Given the description of an element on the screen output the (x, y) to click on. 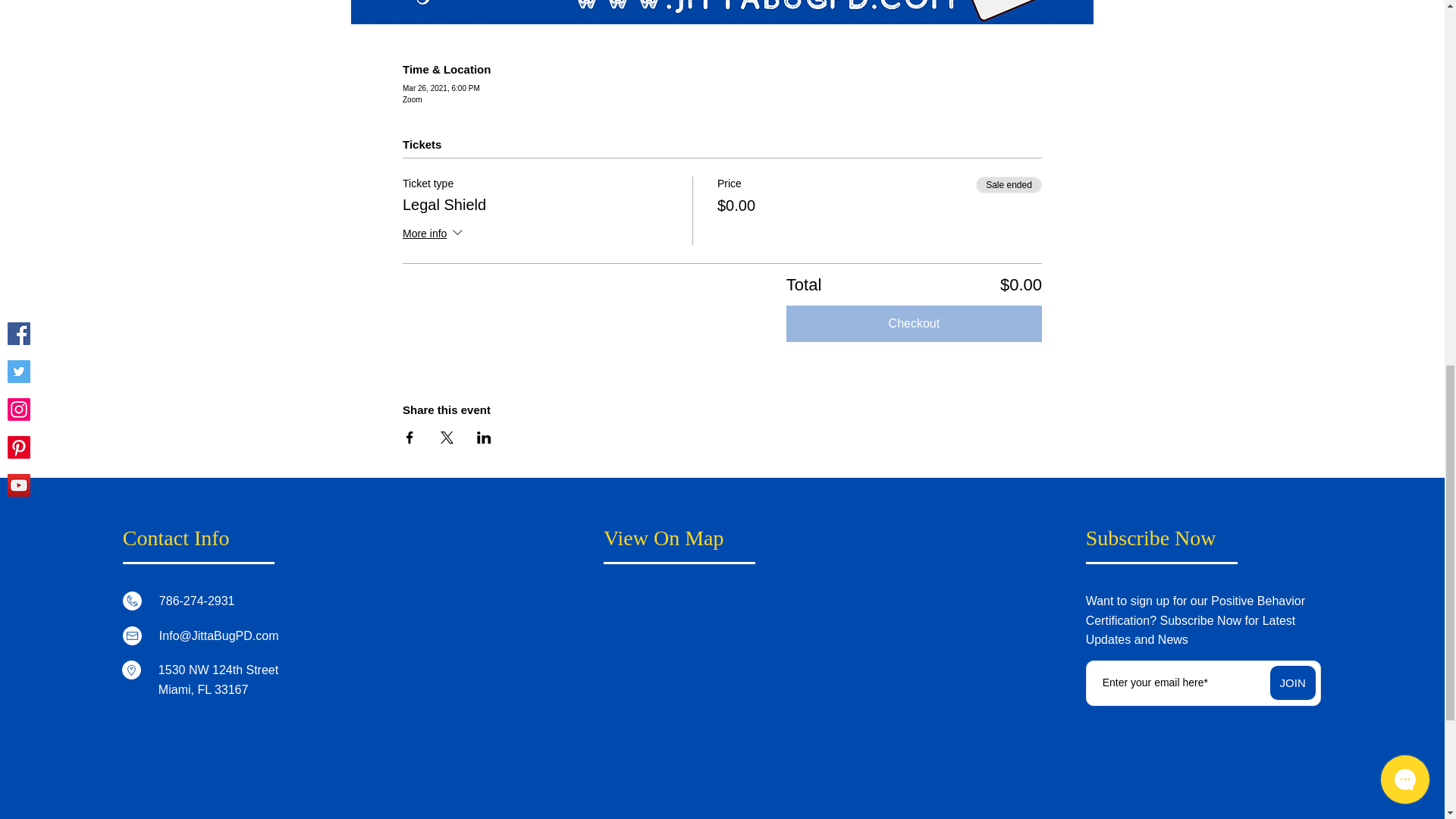
Google Maps (721, 686)
